Given the description of an element on the screen output the (x, y) to click on. 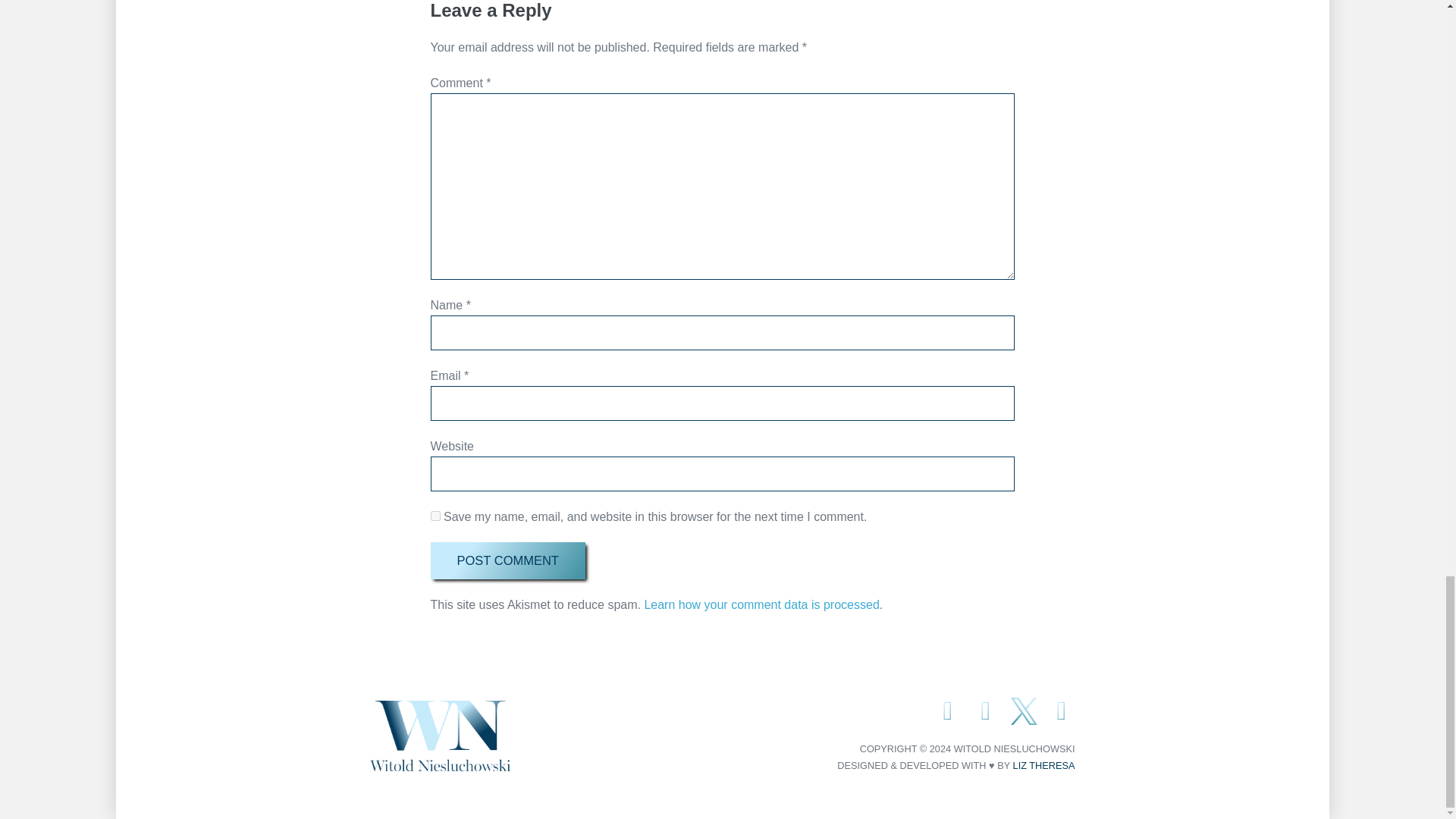
witoldNiesluchowski - logo (440, 736)
yes (435, 515)
x-logo (1023, 710)
Post Comment (507, 560)
